Given the description of an element on the screen output the (x, y) to click on. 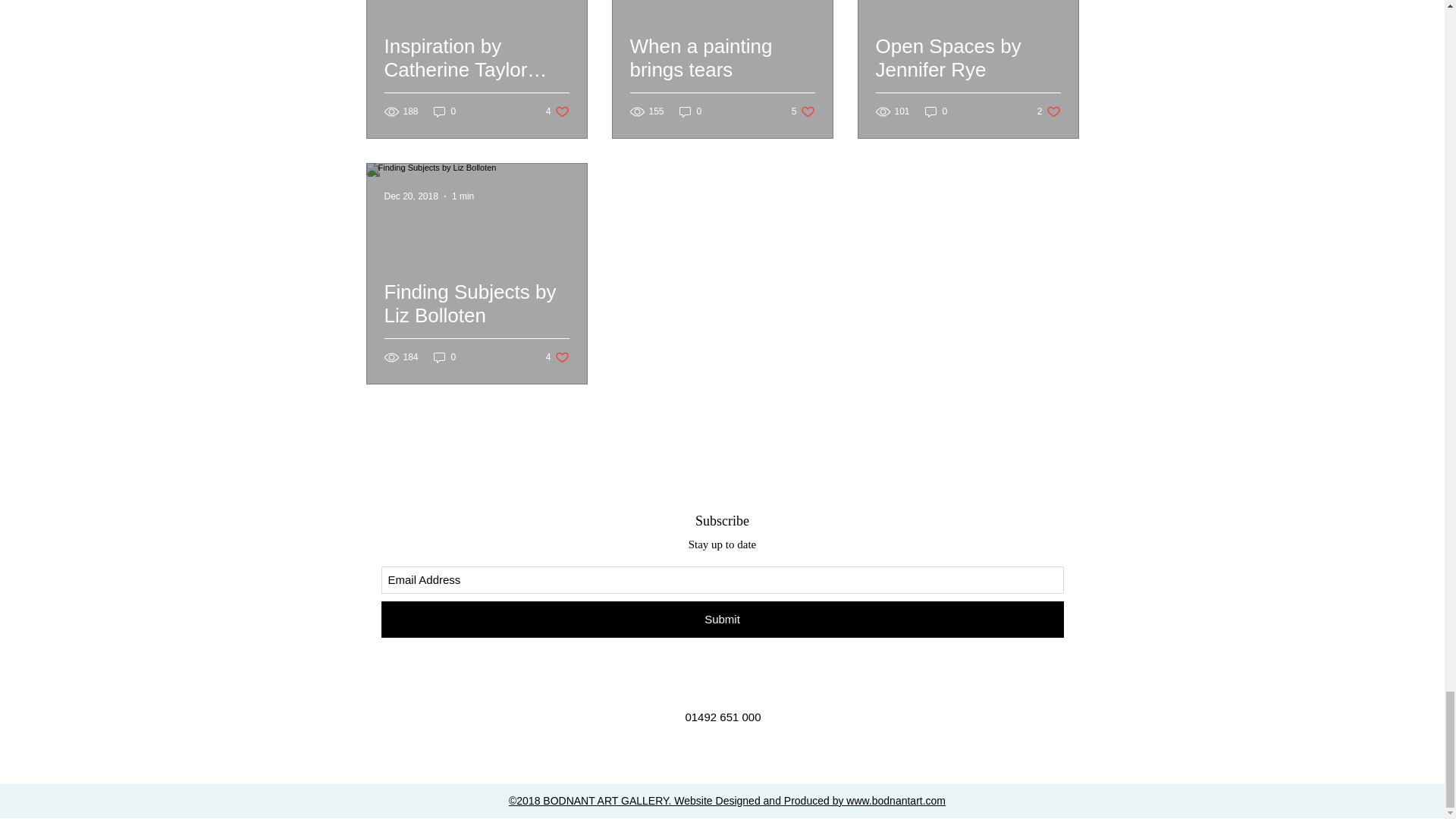
0 (1048, 111)
Inspiration by Catherine Taylor Parry (803, 111)
Submit (445, 111)
Dec 20, 2018 (557, 357)
0 (476, 75)
When a painting brings tears (557, 111)
Open Spaces by Jennifer Rye (721, 619)
1 min (411, 195)
Finding Subjects by Liz Bolloten (936, 111)
0 (720, 75)
0 (967, 75)
